Given the description of an element on the screen output the (x, y) to click on. 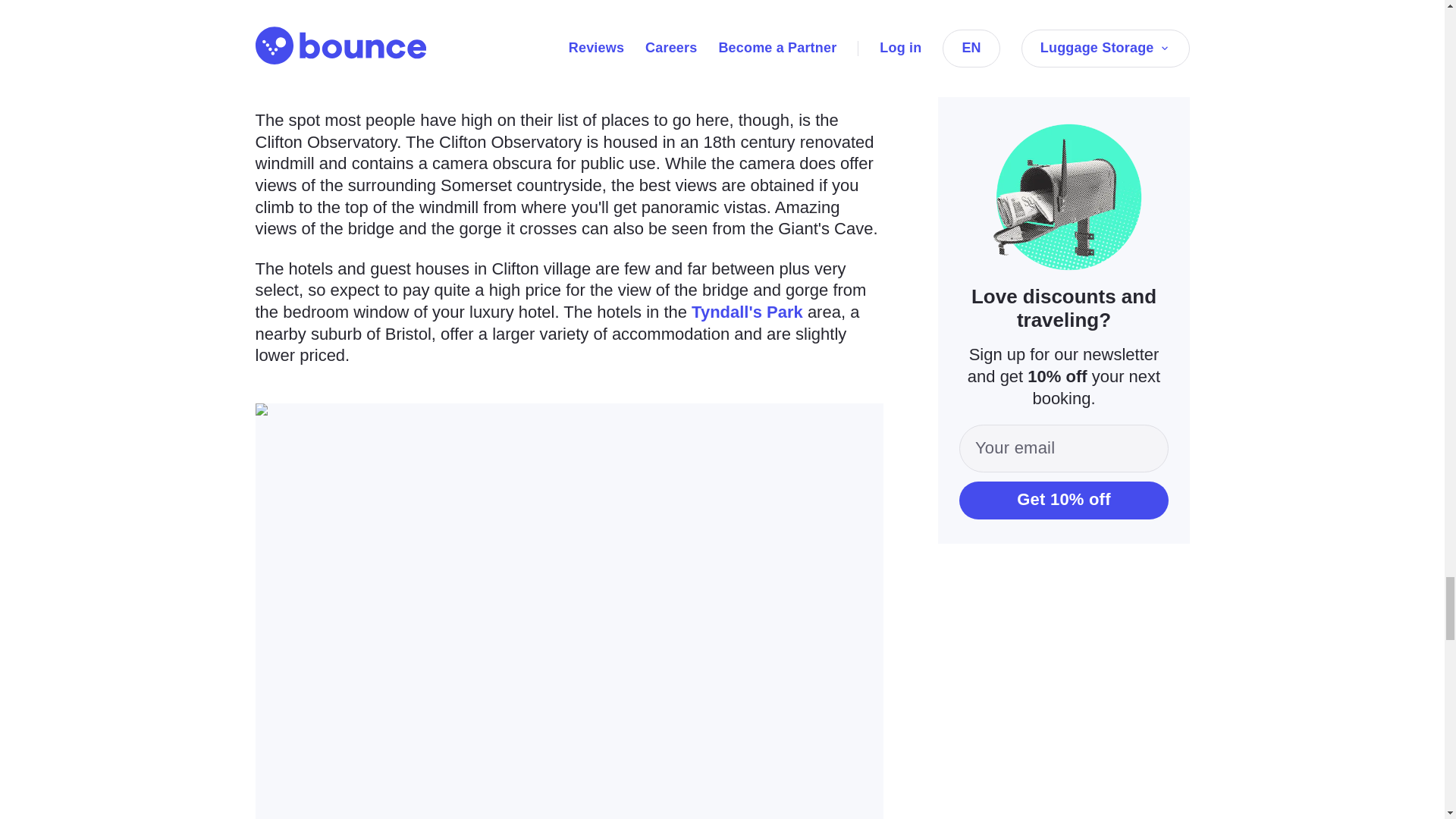
Tyndall's Park (747, 311)
